Given the description of an element on the screen output the (x, y) to click on. 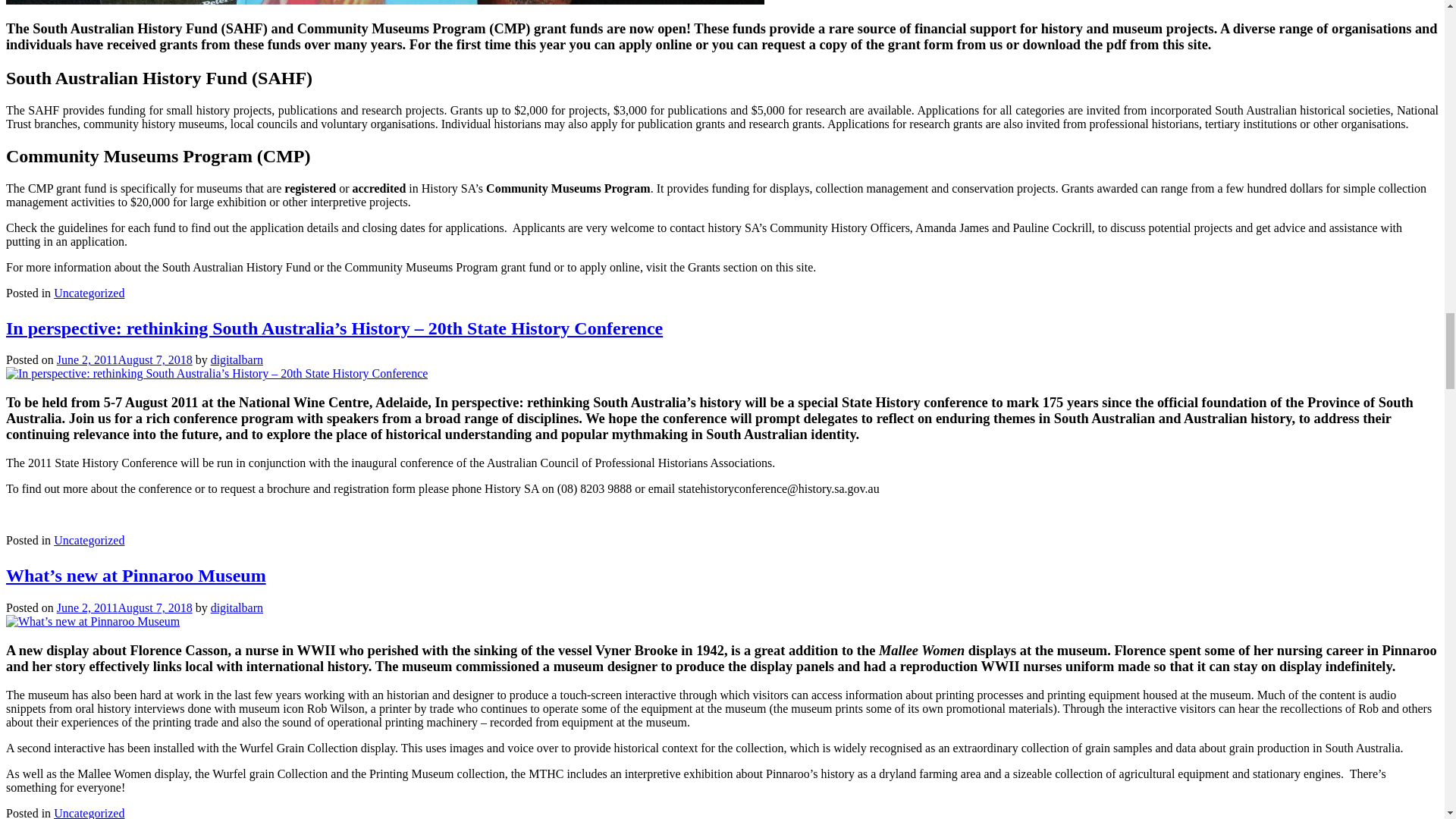
June 2, 2011August 7, 2018 (124, 359)
Uncategorized (88, 292)
digitalbarn (237, 359)
